Given the description of an element on the screen output the (x, y) to click on. 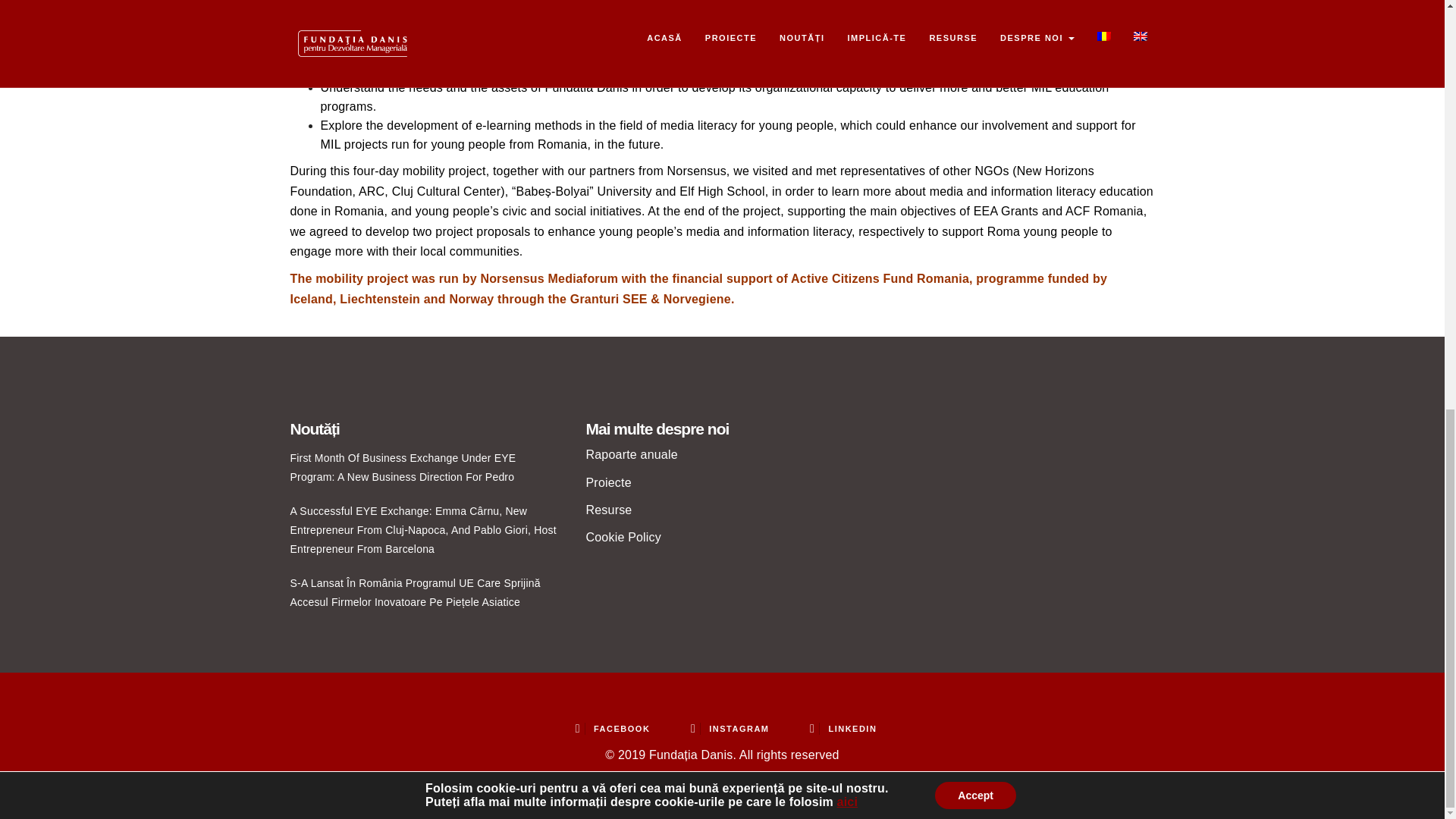
Proiecte (607, 481)
FACEBOOK (612, 728)
Resurse (608, 509)
LINKEDIN (842, 728)
Rapoarte anuale (631, 454)
INSTAGRAM (730, 728)
Cookie Policy (623, 536)
